Given the description of an element on the screen output the (x, y) to click on. 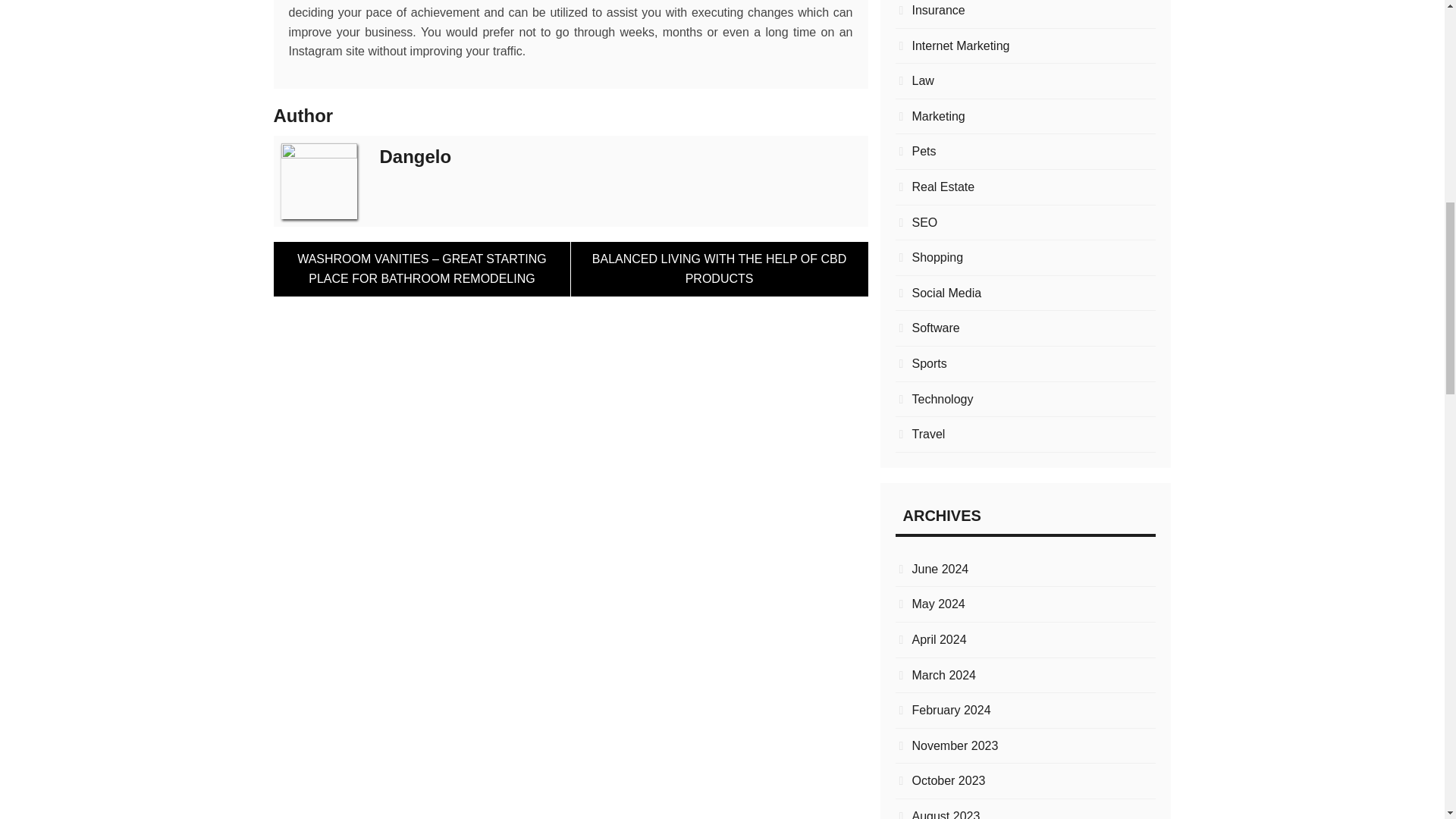
SEO (1025, 222)
Real Estate (1025, 187)
Law (1025, 80)
Sports (1025, 363)
Internet Marketing (1025, 46)
Shopping (1025, 257)
Social Media (1025, 293)
Marketing (1025, 116)
Pets (1025, 151)
Software (1025, 328)
BALANCED LIVING WITH THE HELP OF CBD PRODUCTS (718, 268)
Insurance (1025, 10)
